Given the description of an element on the screen output the (x, y) to click on. 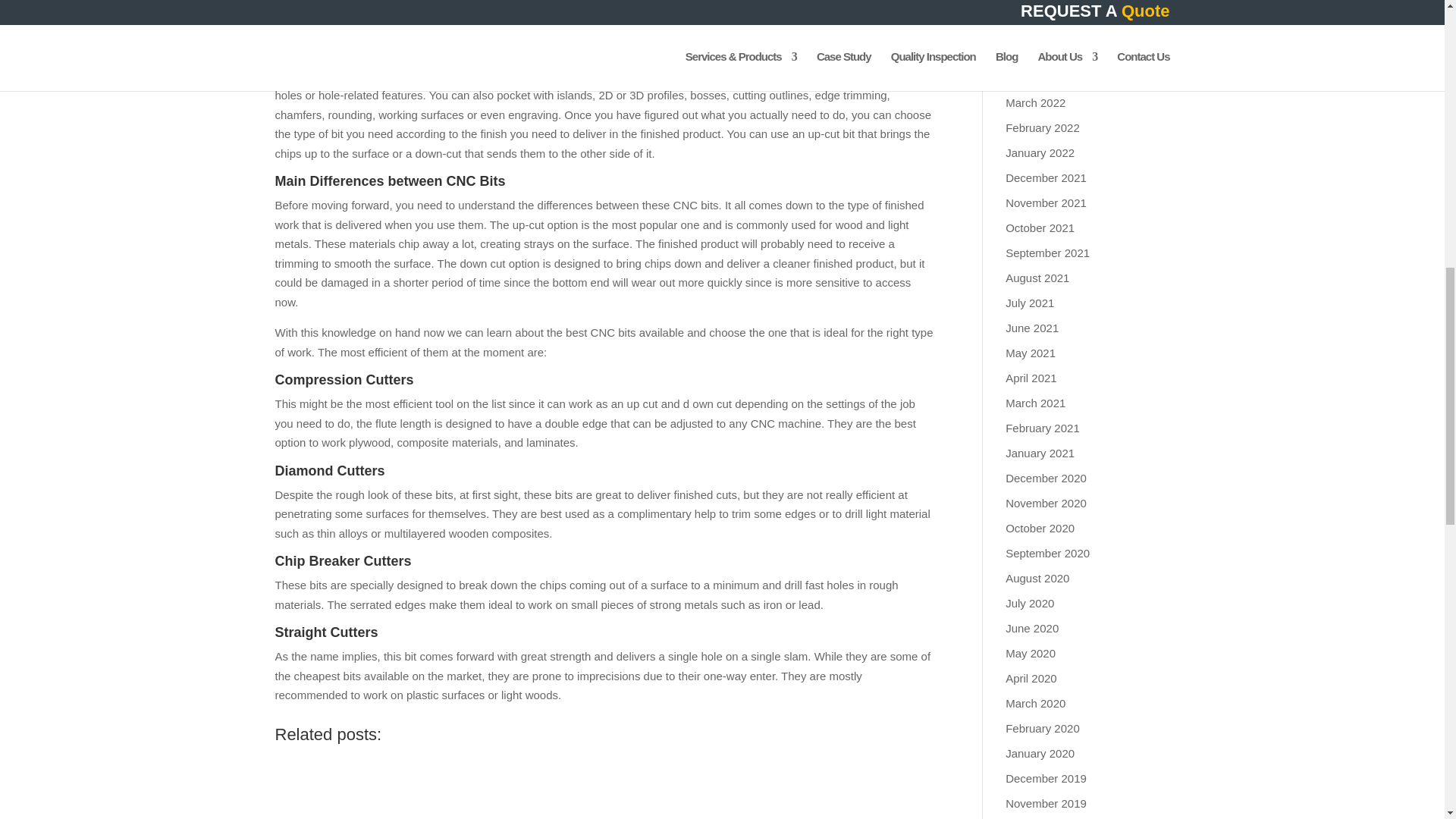
4 Causes for Broken Cutter on CNC Machines (336, 785)
What Are the Benefits of CNC Machines? (580, 785)
cncrouterparts.com (667, 5)
